Given the description of an element on the screen output the (x, y) to click on. 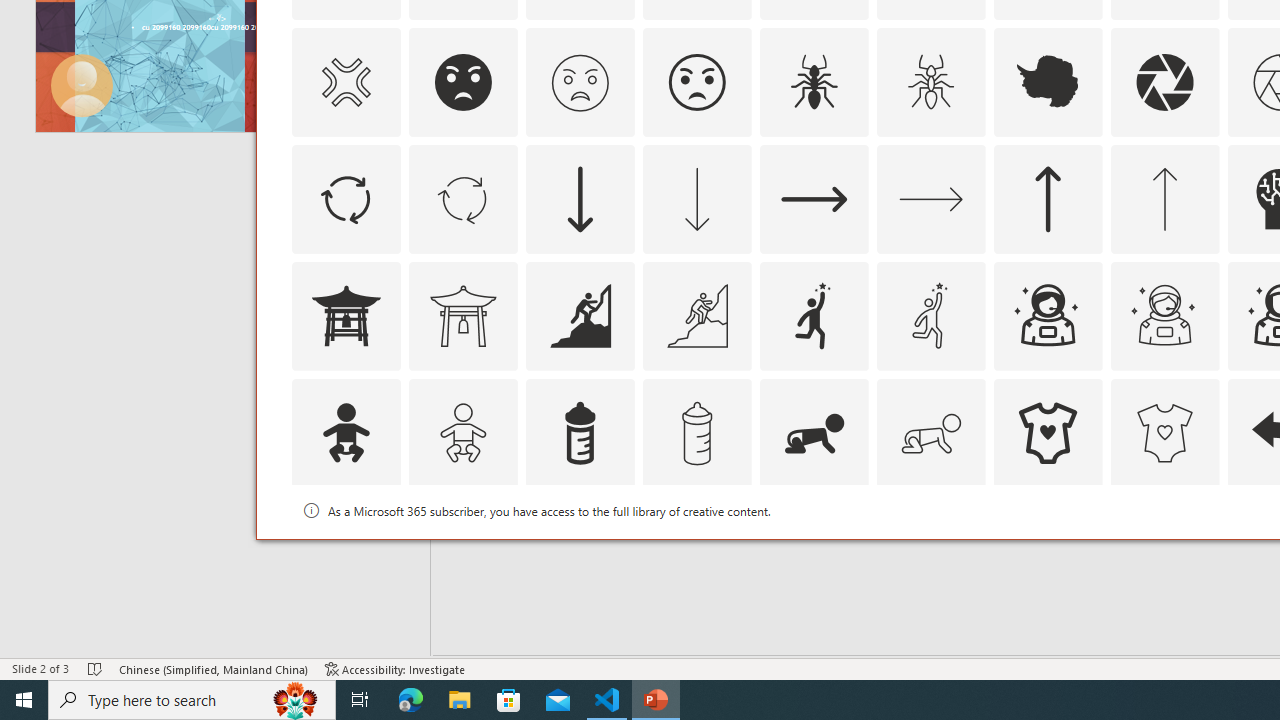
AutomationID: Icons_Badge10_M (345, 550)
AutomationID: Icons_Badge4 (930, 550)
AutomationID: Icons_AngerSymbol_M (345, 82)
AutomationID: Icons_Baby_M (463, 432)
AutomationID: Icons_Aspiration1 (813, 316)
AutomationID: Icons_Baby (345, 432)
AutomationID: Icons_ArrowRight_M (930, 198)
AutomationID: Icons_AngryFace_Outline (696, 82)
AutomationID: Icons_AsianTemple1 (345, 316)
AutomationID: Icons_ArrowDown_M (696, 198)
AutomationID: Icons_ArrowCircle (345, 198)
